Given the description of an element on the screen output the (x, y) to click on. 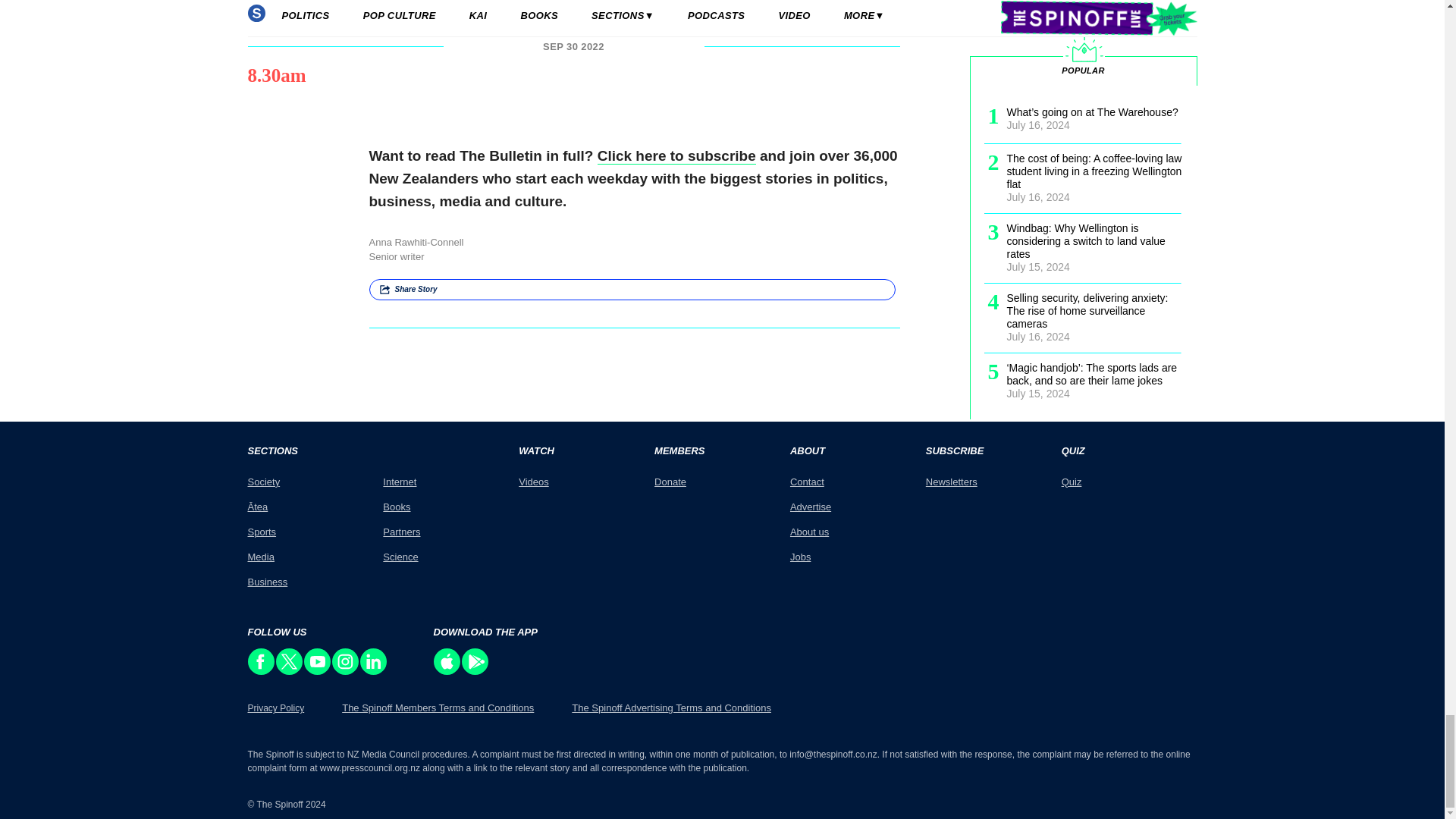
view all posts by Anna Rawhiti-Connell (415, 242)
